Given the description of an element on the screen output the (x, y) to click on. 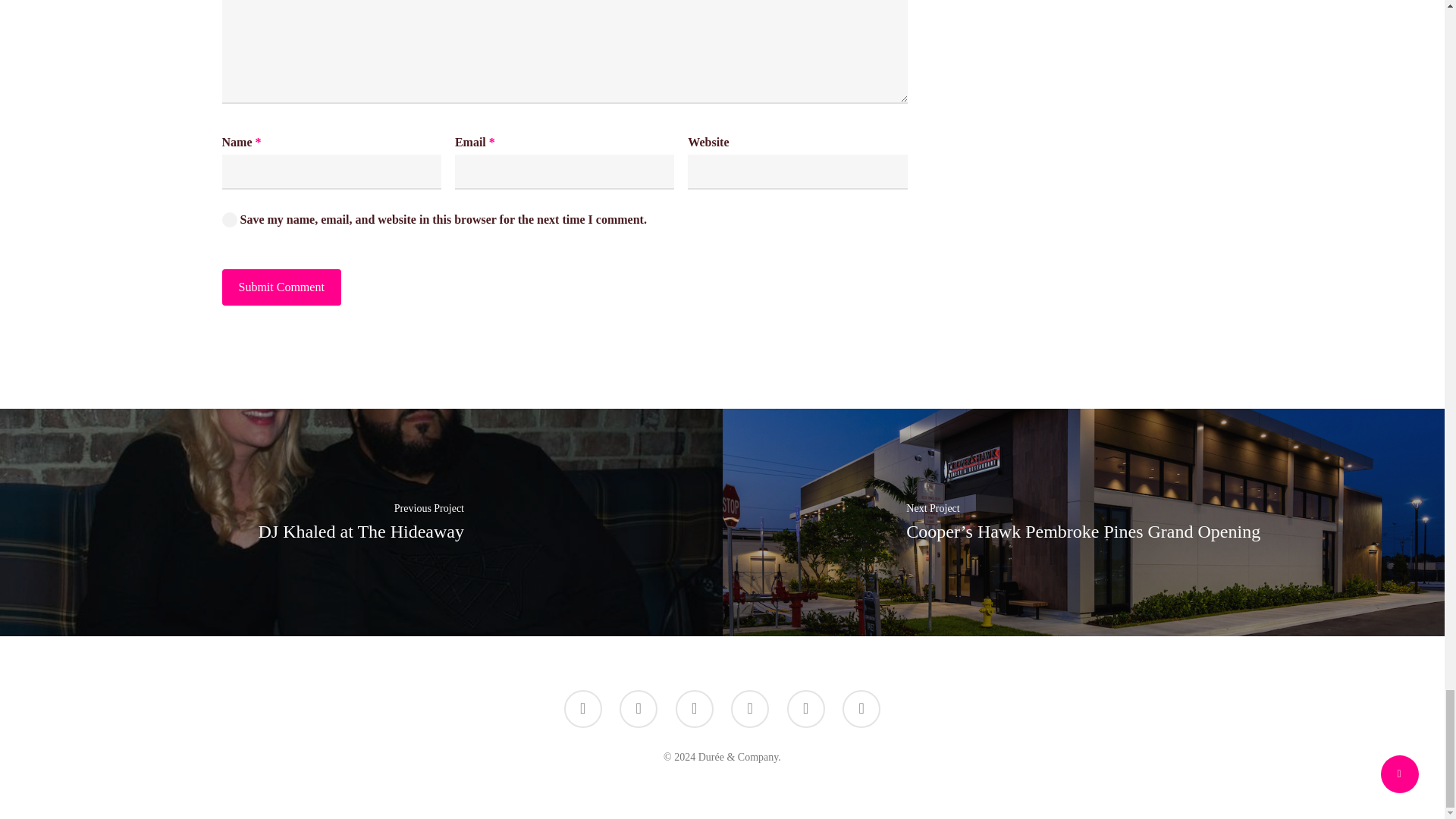
Submit Comment (280, 287)
yes (228, 219)
